Given the description of an element on the screen output the (x, y) to click on. 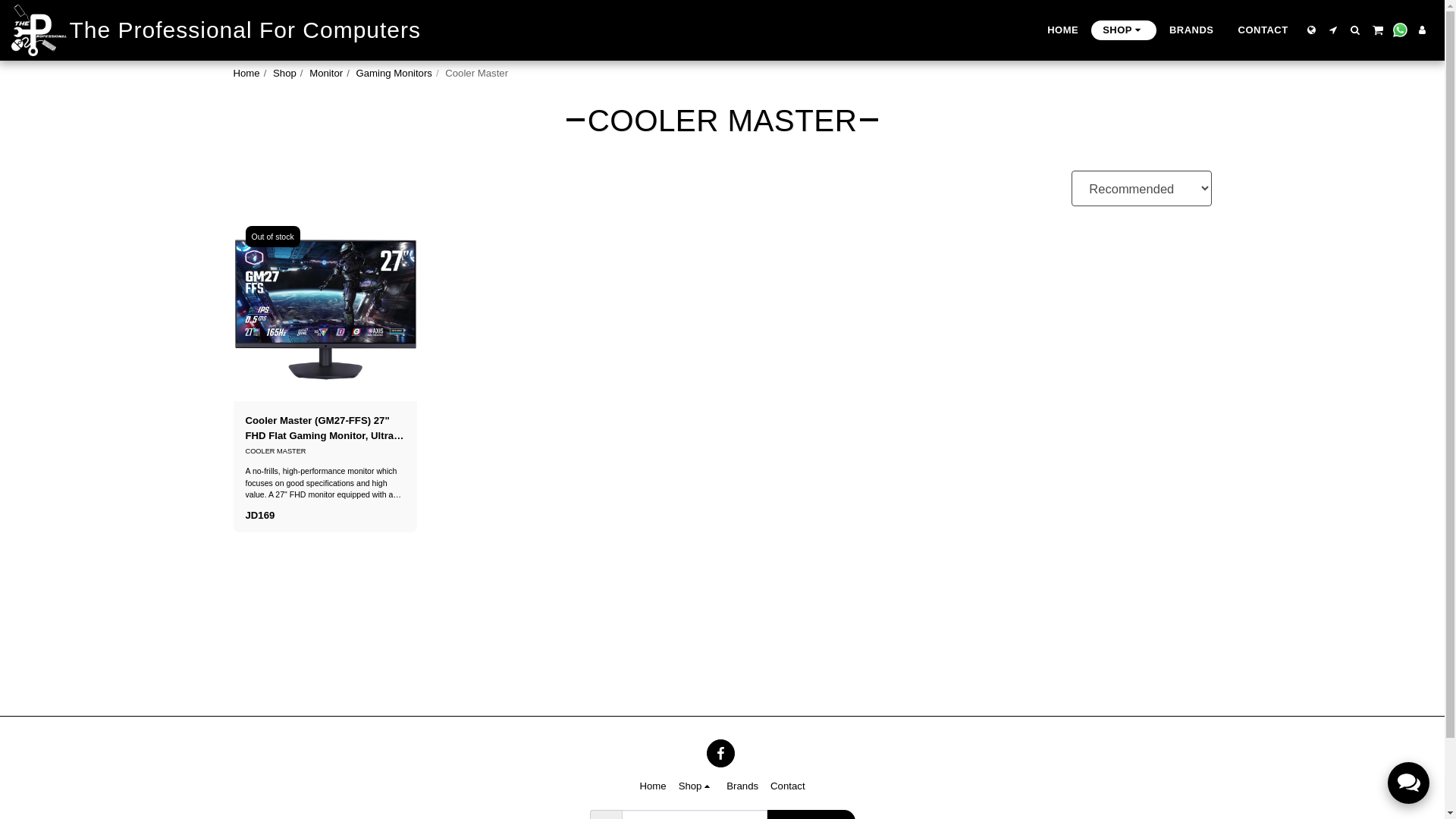
SHOP   (1123, 29)
BRANDS (1191, 29)
HOME (1062, 29)
The Professional For Computers (215, 30)
CONTACT (1263, 29)
